Given the description of an element on the screen output the (x, y) to click on. 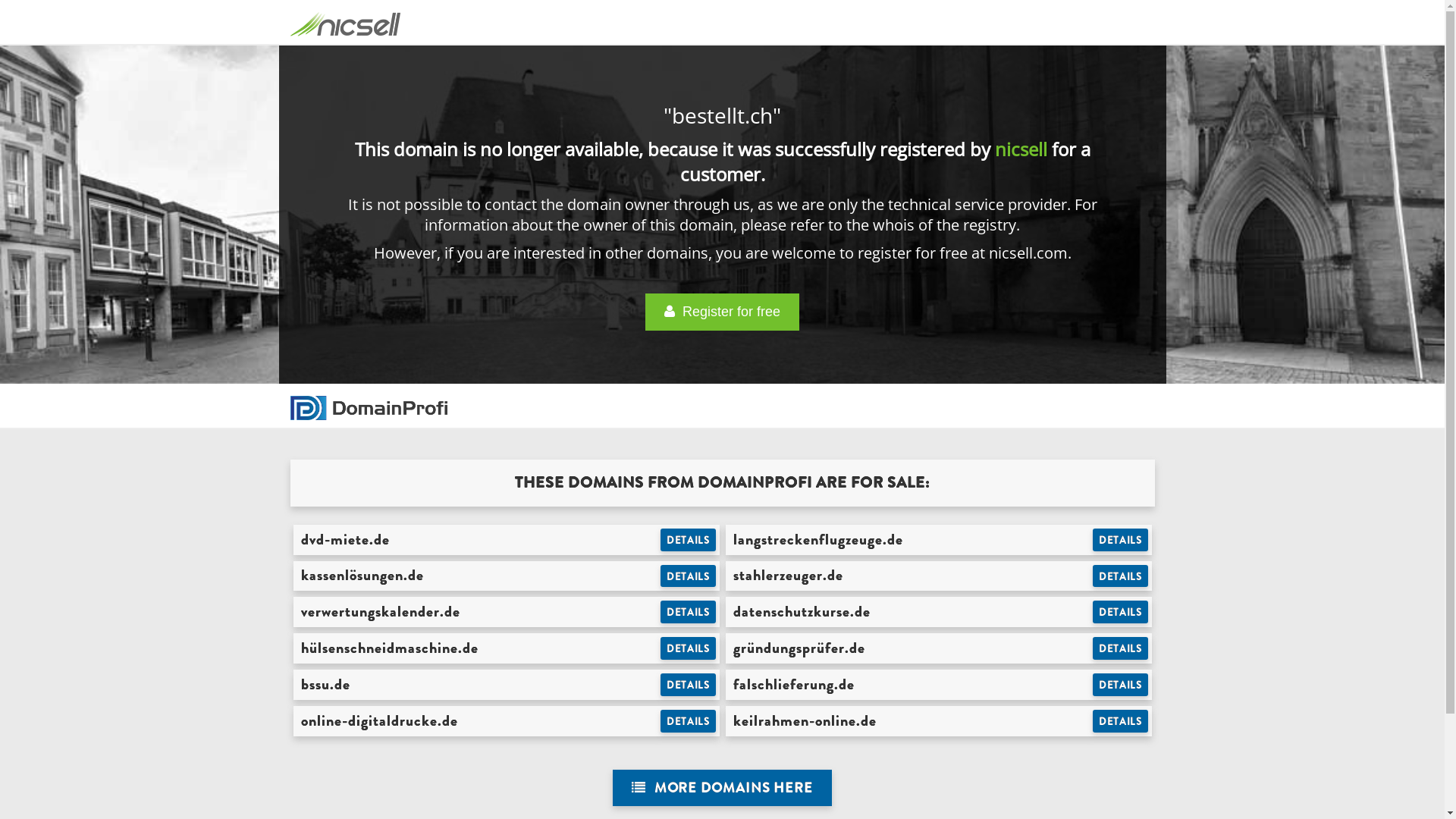
nicsell Element type: text (1020, 148)
DETAILS Element type: text (687, 720)
DETAILS Element type: text (1120, 720)
DETAILS Element type: text (1120, 575)
  MORE DOMAINS HERE Element type: text (721, 787)
DETAILS Element type: text (687, 648)
DETAILS Element type: text (1120, 648)
DETAILS Element type: text (687, 539)
DETAILS Element type: text (1120, 539)
DETAILS Element type: text (687, 684)
  Register for free Element type: text (722, 311)
DETAILS Element type: text (1120, 611)
DETAILS Element type: text (1120, 684)
DETAILS Element type: text (687, 611)
DETAILS Element type: text (687, 575)
